Given the description of an element on the screen output the (x, y) to click on. 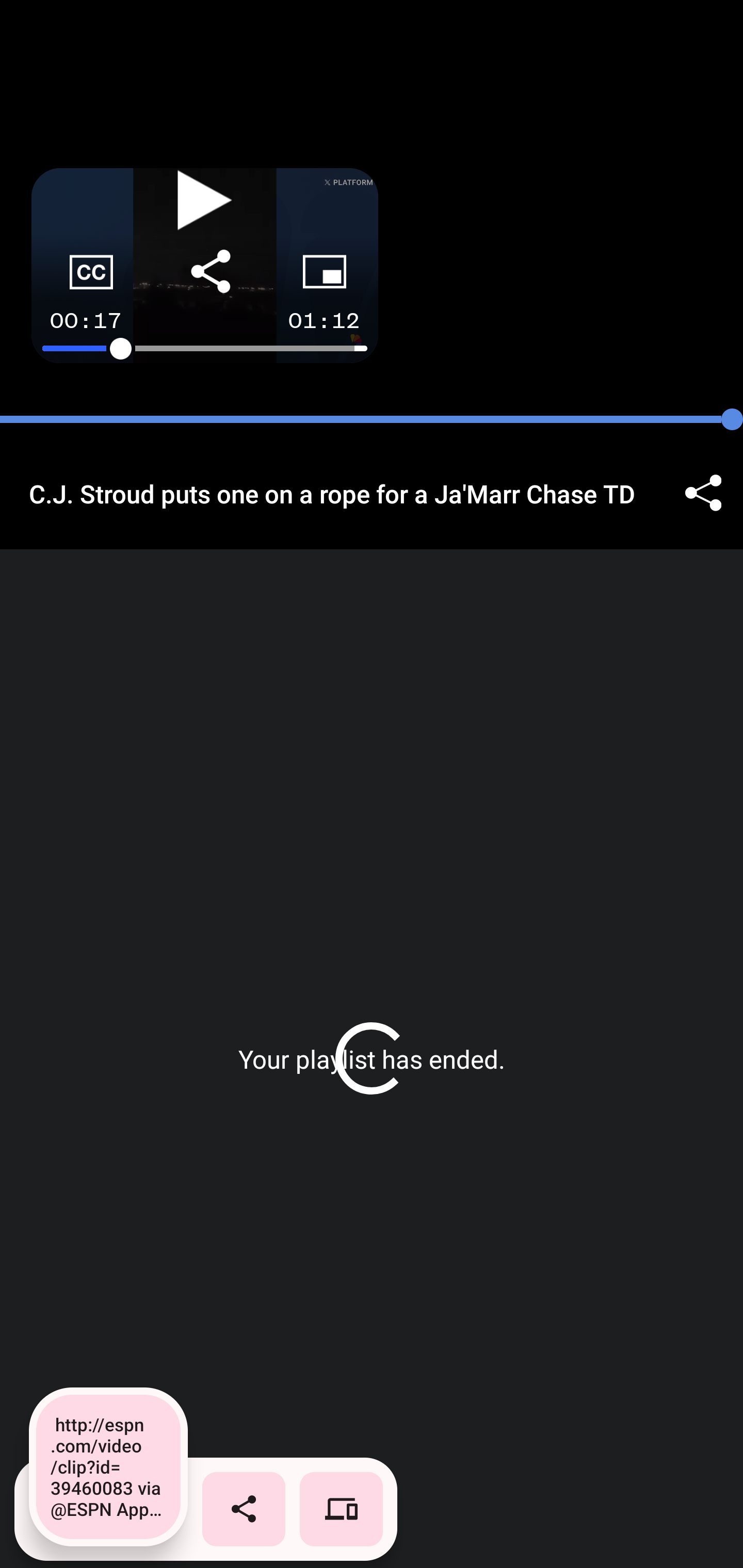
Share © (703, 493)
